Given the description of an element on the screen output the (x, y) to click on. 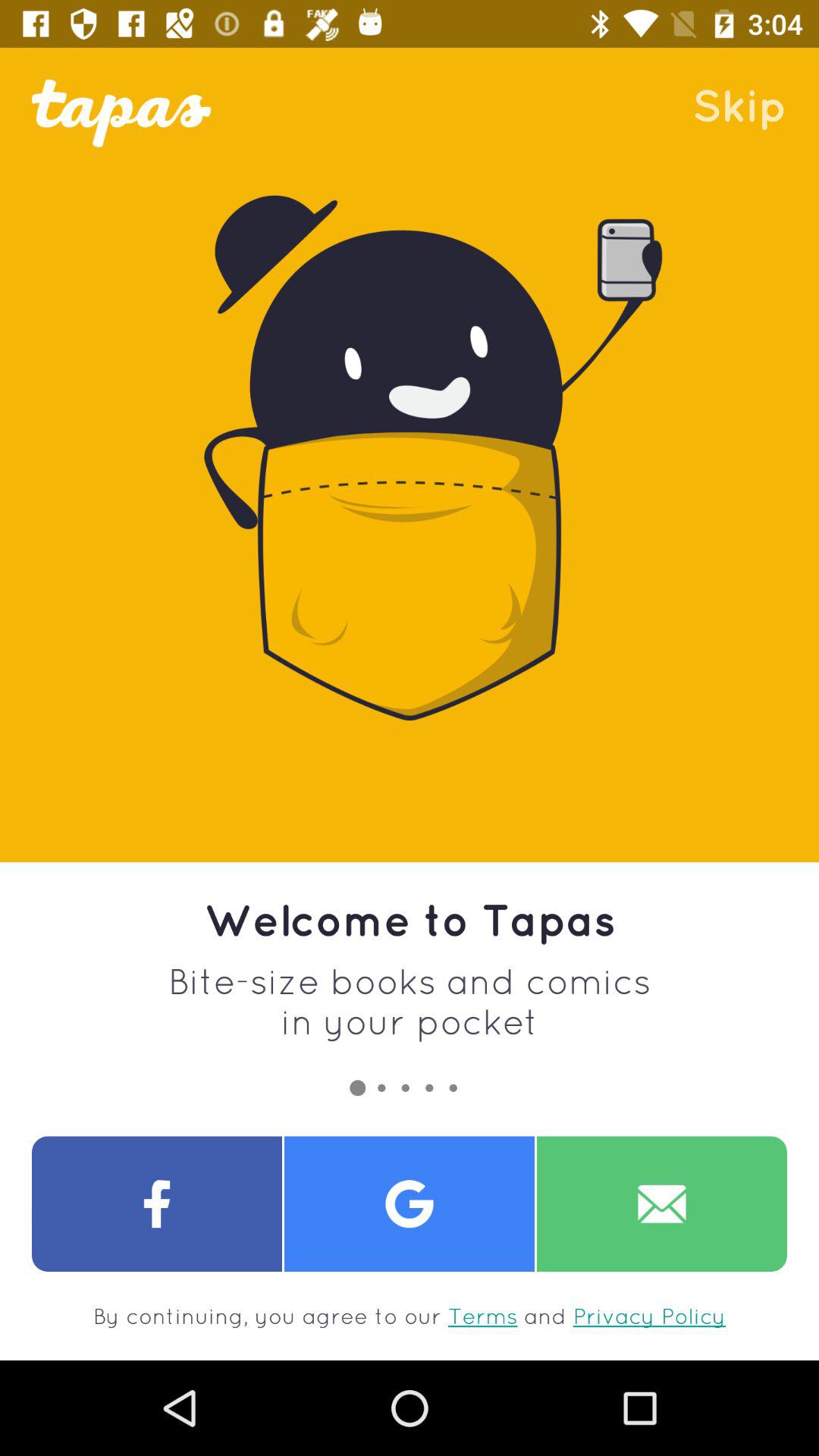
share with e-mail (661, 1203)
